Given the description of an element on the screen output the (x, y) to click on. 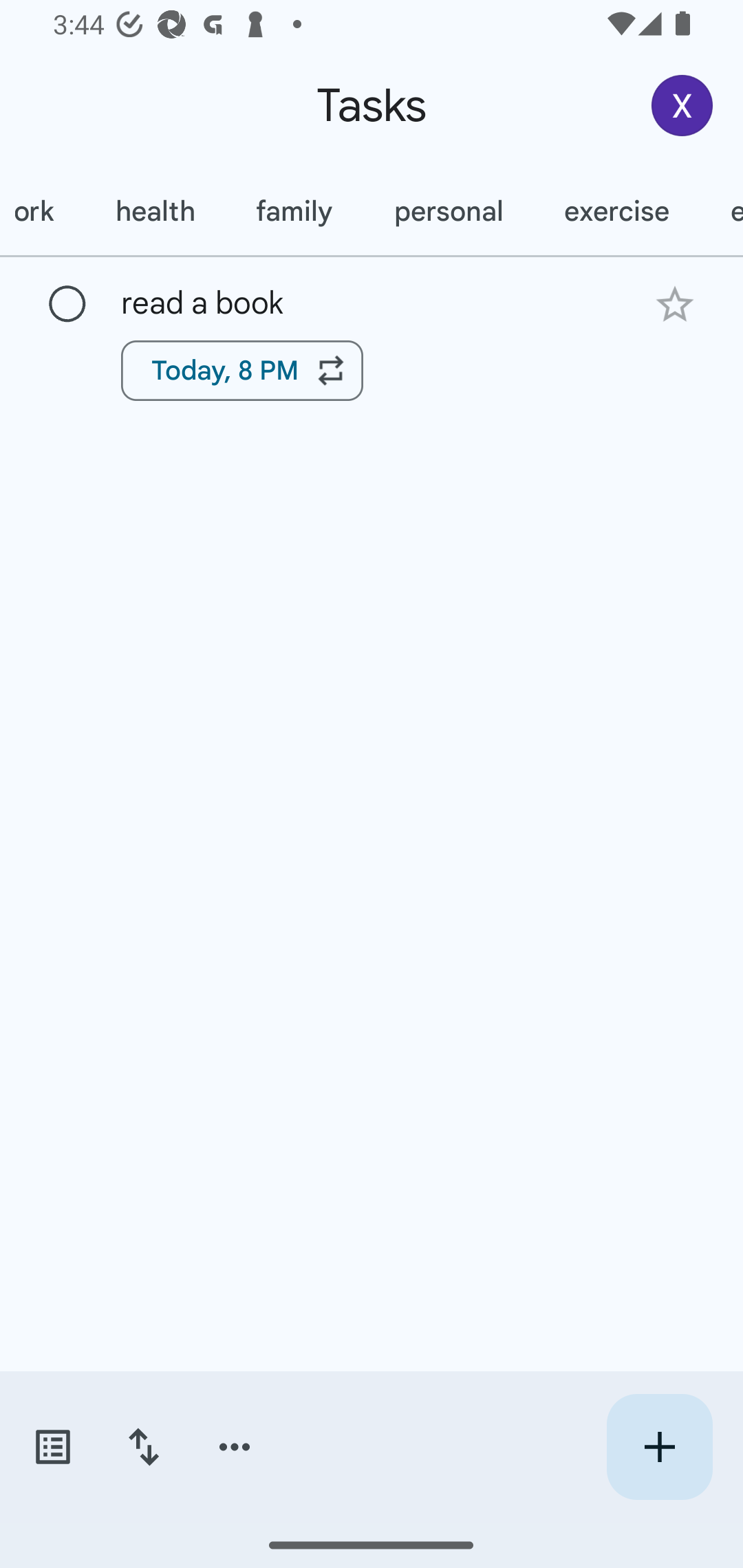
work (42, 211)
health (154, 211)
family (294, 211)
personal (448, 211)
exercise (616, 211)
Add star (674, 303)
Mark as complete (67, 304)
Today, 8 PM (242, 369)
Switch task lists (52, 1447)
Create new task (659, 1446)
Change sort order (143, 1446)
More options (234, 1446)
